Given the description of an element on the screen output the (x, y) to click on. 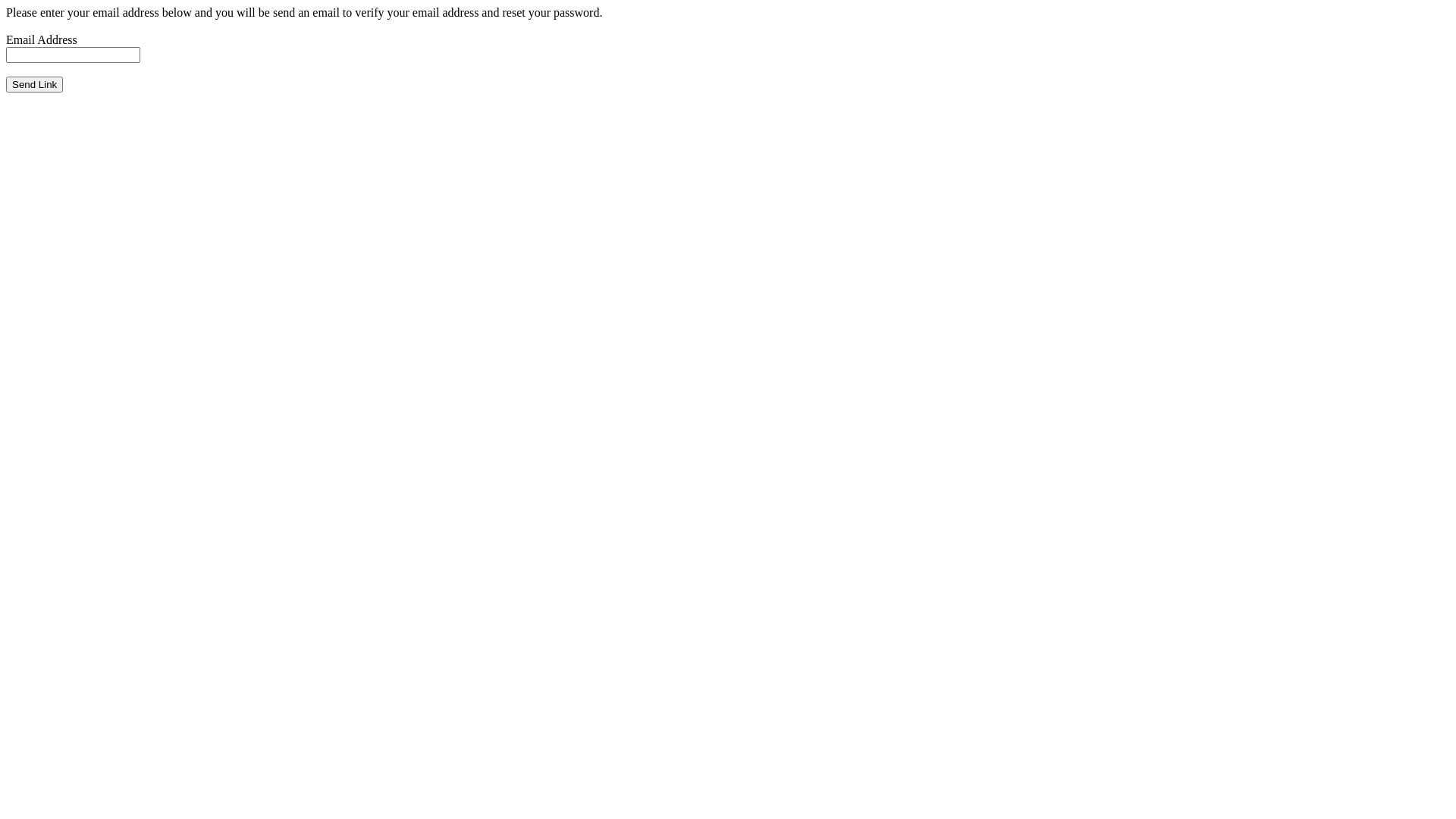
Send Link Element type: text (34, 84)
